Given the description of an element on the screen output the (x, y) to click on. 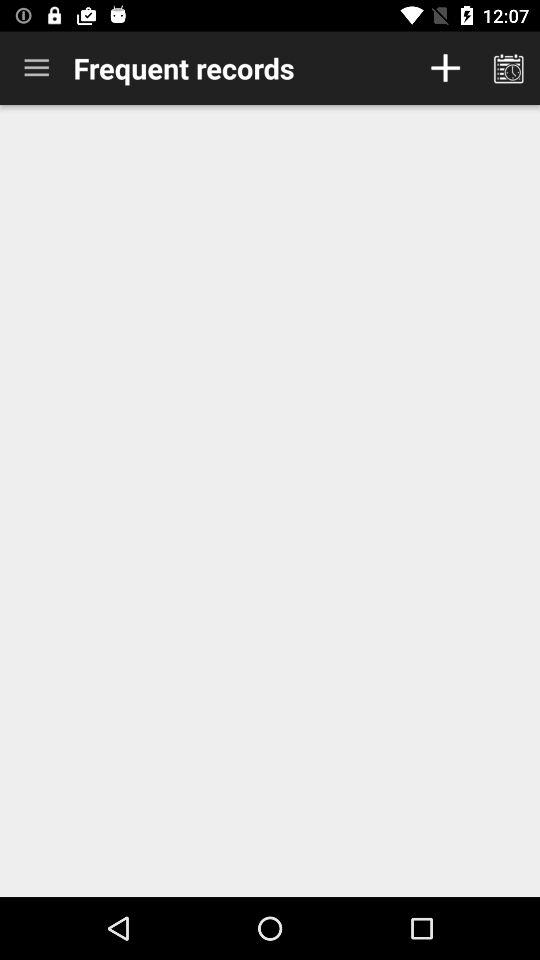
copy to clipboard (508, 67)
